Given the description of an element on the screen output the (x, y) to click on. 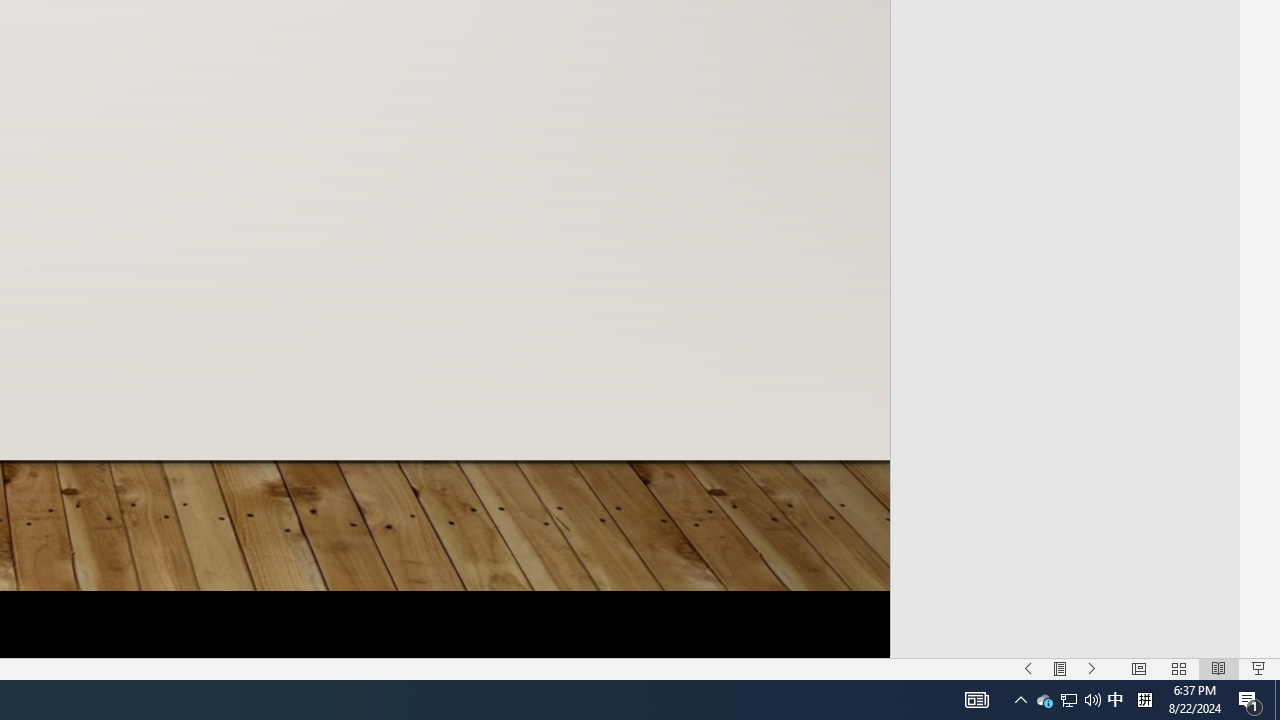
Slide Show Next On (1092, 668)
Slide Show Previous On (1028, 668)
Reading View (1219, 668)
Slide Sorter (1178, 668)
Normal (1138, 668)
Menu On (1060, 668)
